Given the description of an element on the screen output the (x, y) to click on. 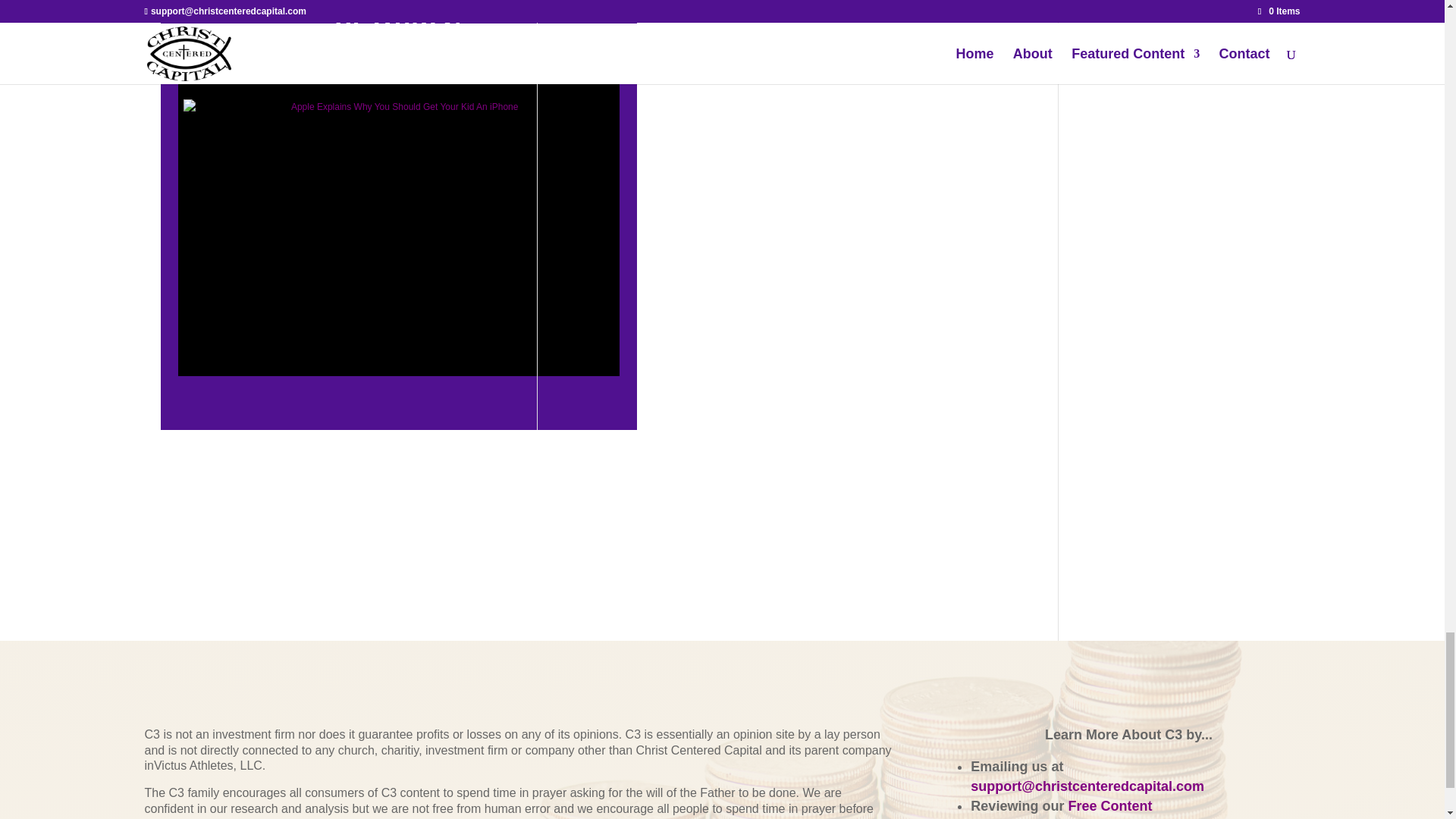
Free Content (1109, 806)
